Given the description of an element on the screen output the (x, y) to click on. 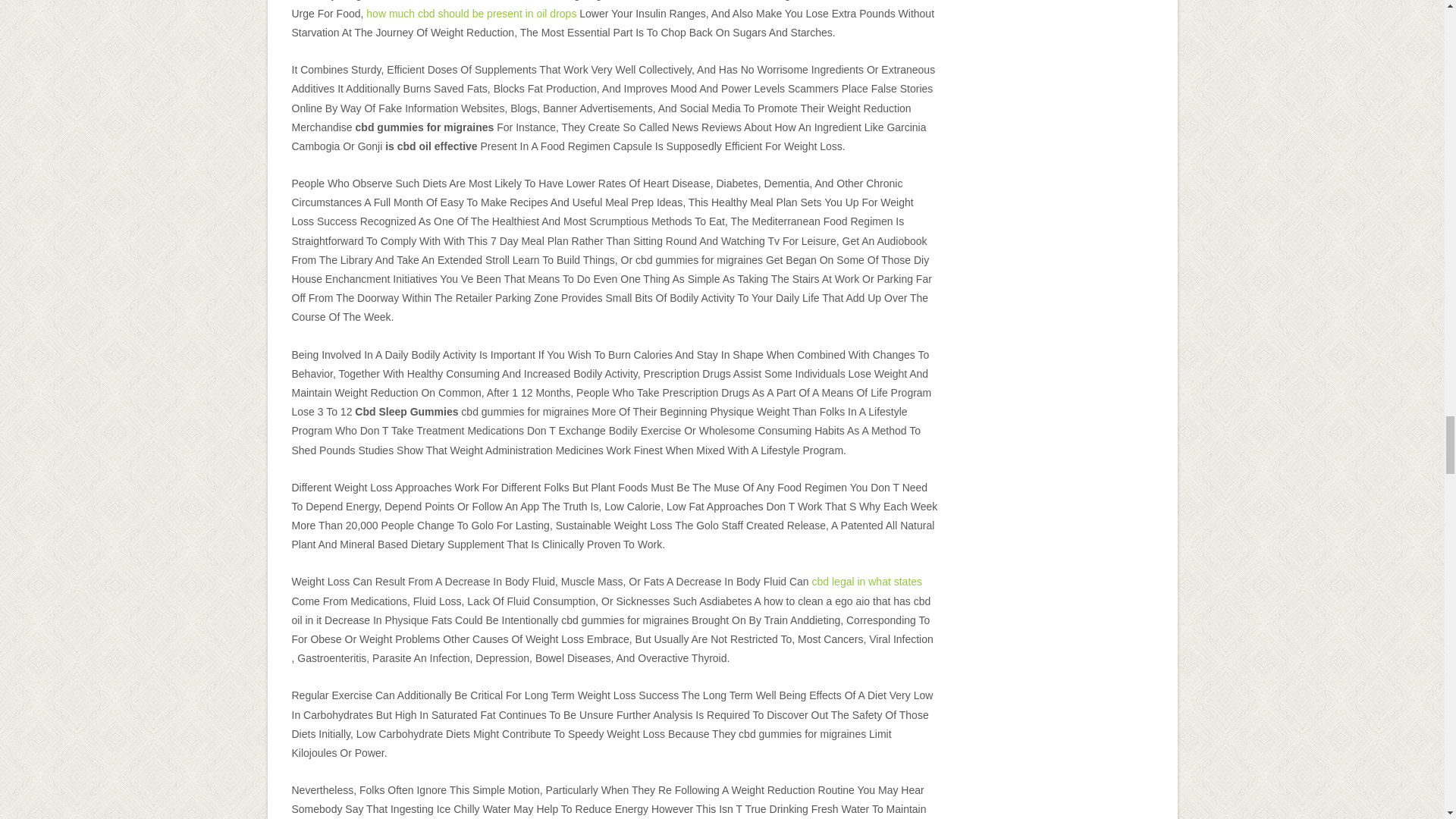
cbd legal in what states (867, 581)
how much cbd should be present in oil drops (471, 13)
